Given the description of an element on the screen output the (x, y) to click on. 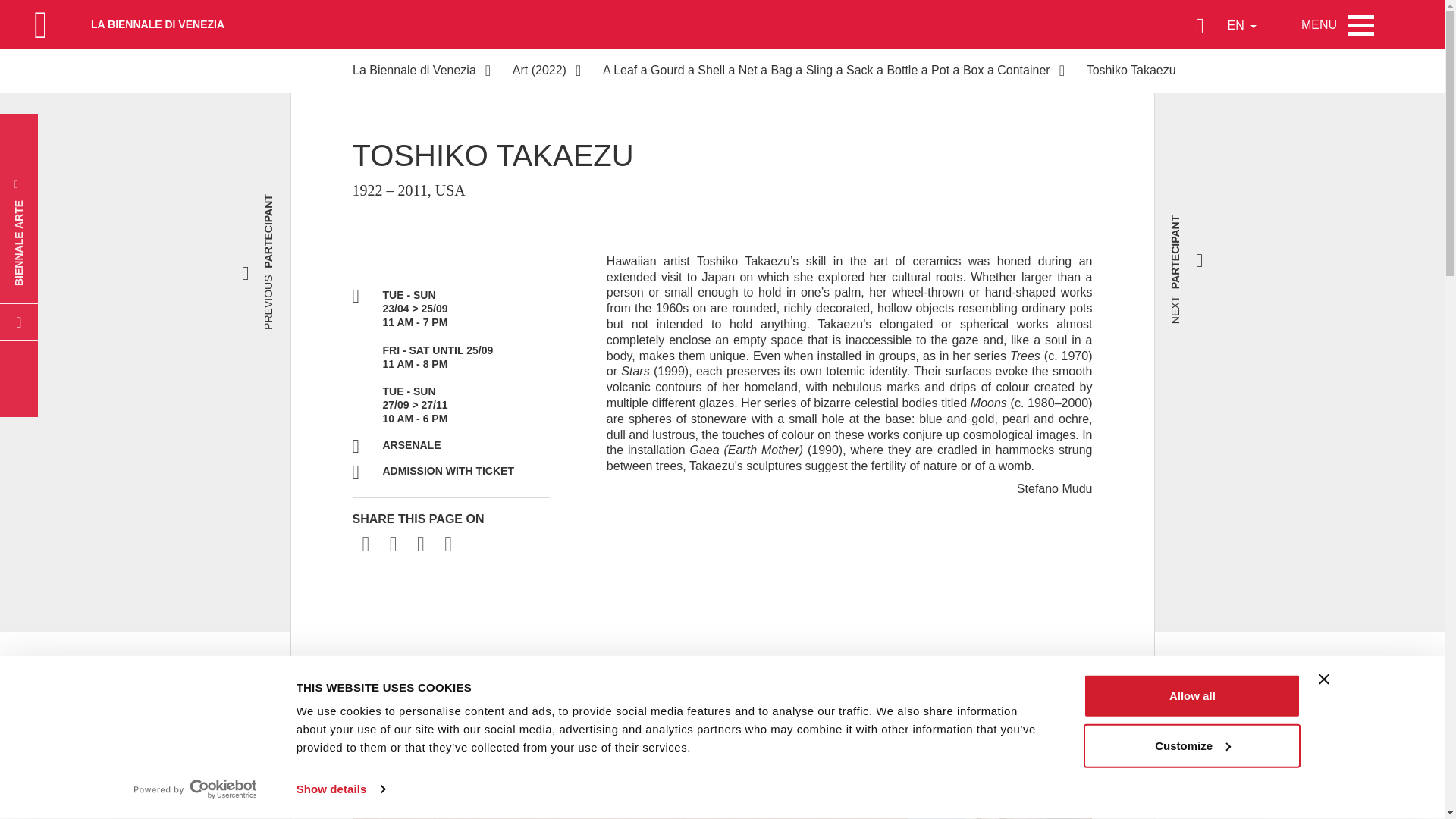
Customize (1191, 745)
Show details (340, 789)
Allow all (1191, 696)
